Given the description of an element on the screen output the (x, y) to click on. 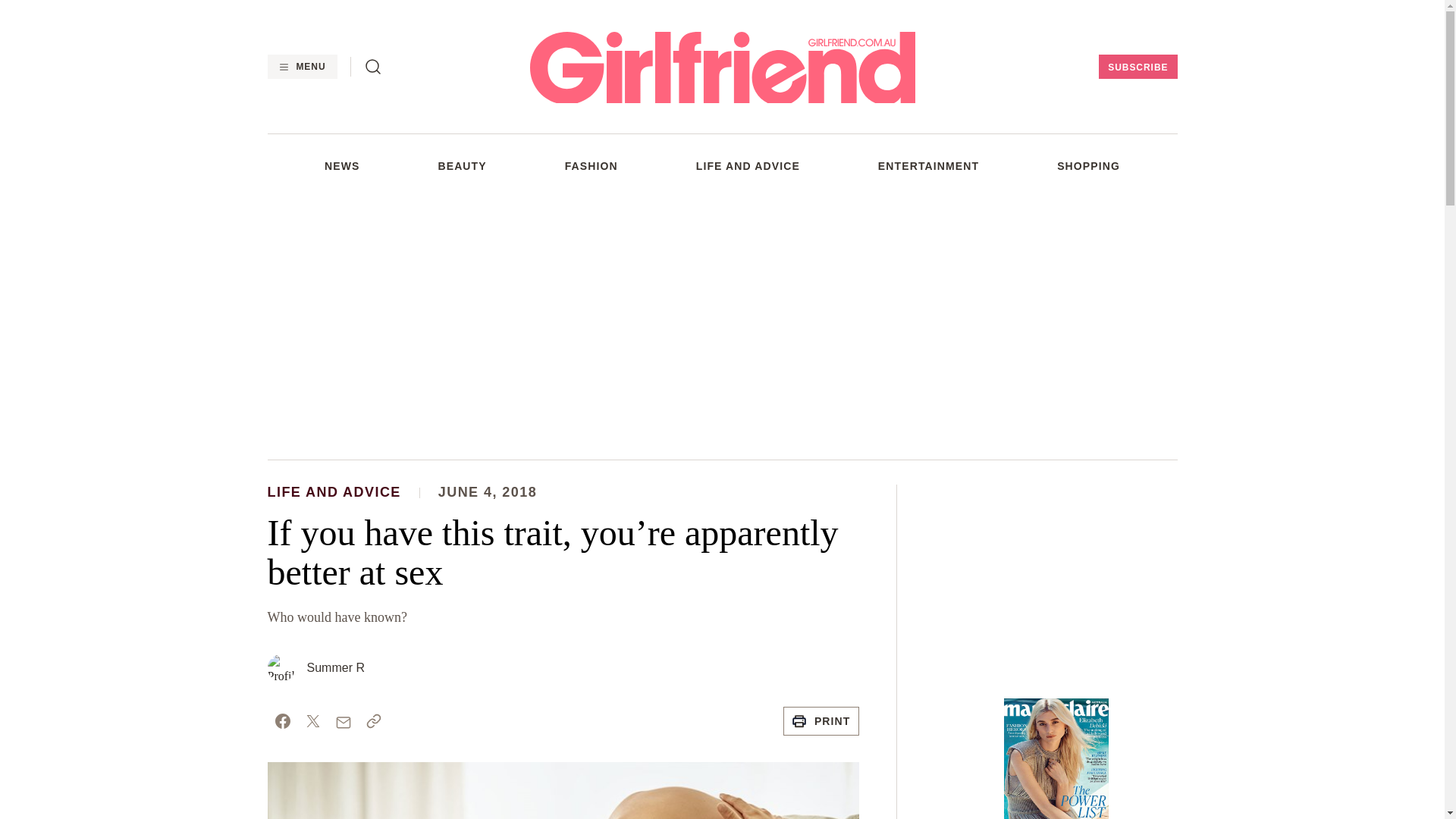
SHOPPING (1088, 165)
FASHION (590, 165)
LIFE AND ADVICE (747, 165)
SUBSCRIBE (1137, 66)
ENTERTAINMENT (927, 165)
NEWS (341, 165)
3rd party ad content (1055, 579)
MENU (301, 66)
BEAUTY (462, 165)
